Given the description of an element on the screen output the (x, y) to click on. 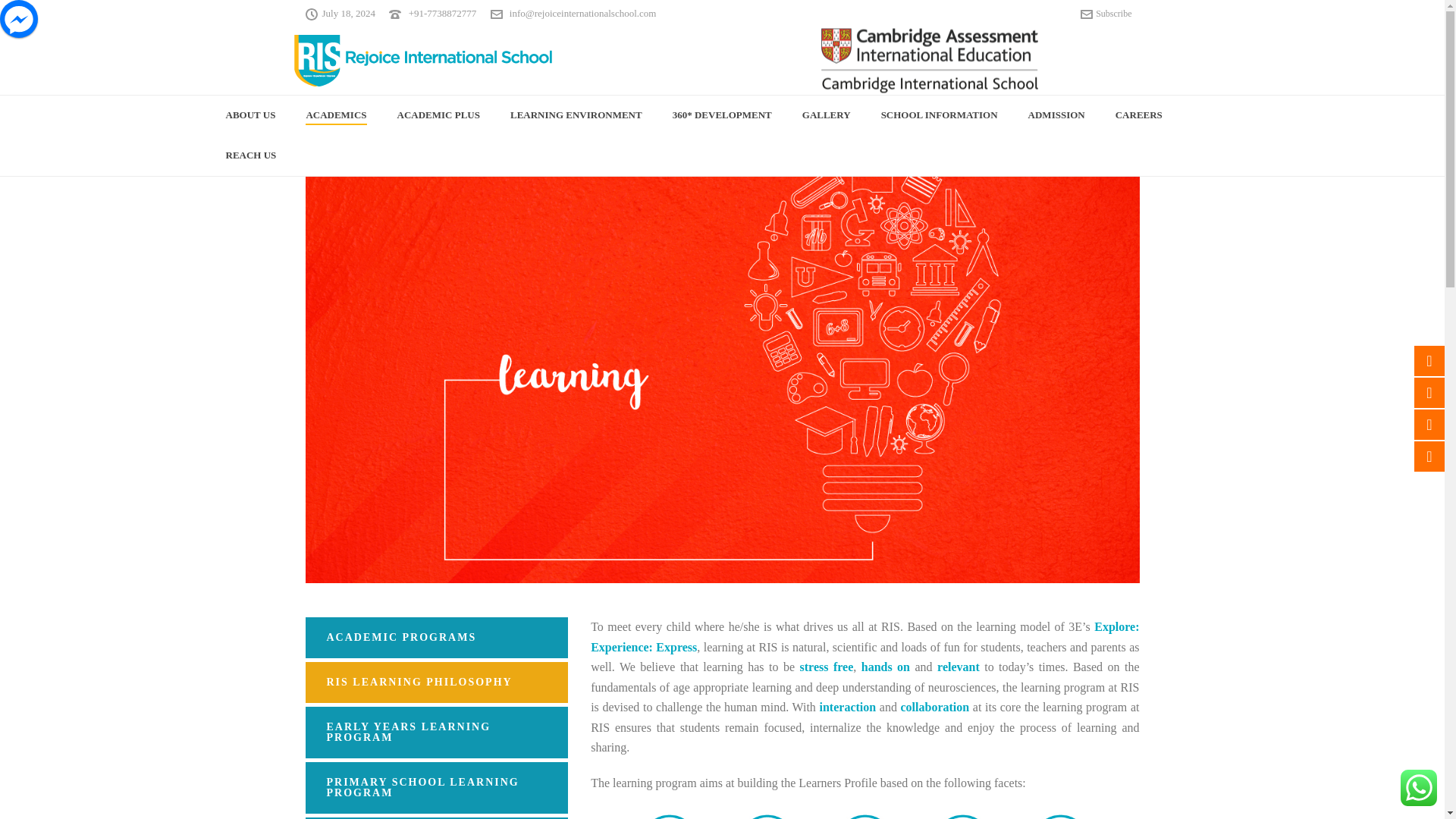
GALLERY (826, 115)
GALLERY (826, 115)
PRIMARY SCHOOL LEARNING PROGRAM (435, 788)
ACADEMIC PLUS (438, 115)
RIS LEARNING PHILOSOPHY (435, 681)
ACADEMICS (335, 115)
EARLY YEARS LEARNING PROGRAM (435, 732)
REACH US (251, 155)
CAREERS (1138, 115)
ABOUT US (251, 115)
ABOUT US (251, 115)
ACADEMIC PROGRAMS (435, 637)
ACADEMIC PLUS (438, 115)
Subscribe (1105, 13)
